Given the description of an element on the screen output the (x, y) to click on. 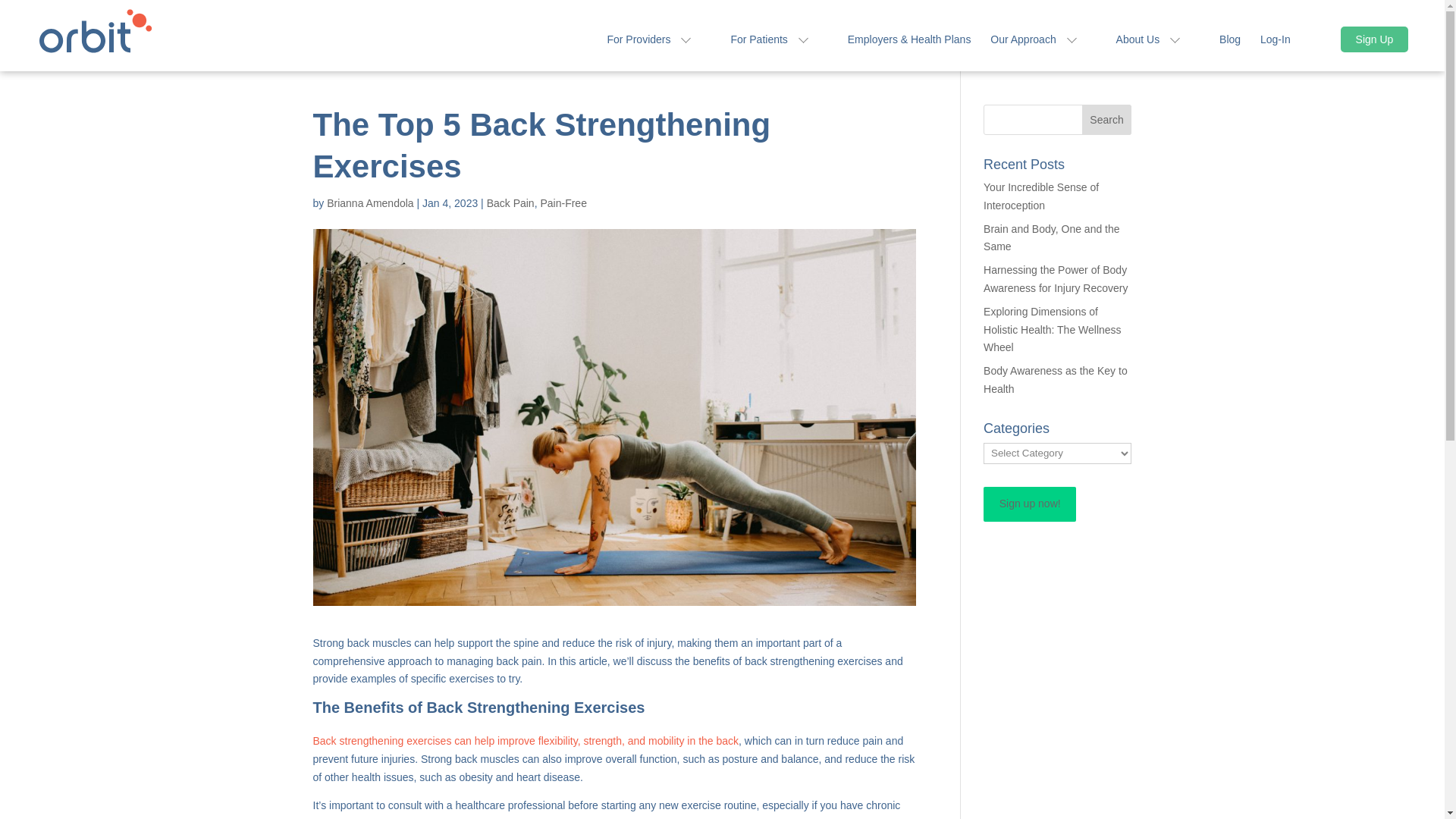
Search (1106, 119)
Posts by Brianna Amendola (369, 203)
About Us (1157, 52)
For Providers (658, 52)
Our Approach (1043, 52)
For Patients (778, 52)
Sign Up (1374, 39)
